Given the description of an element on the screen output the (x, y) to click on. 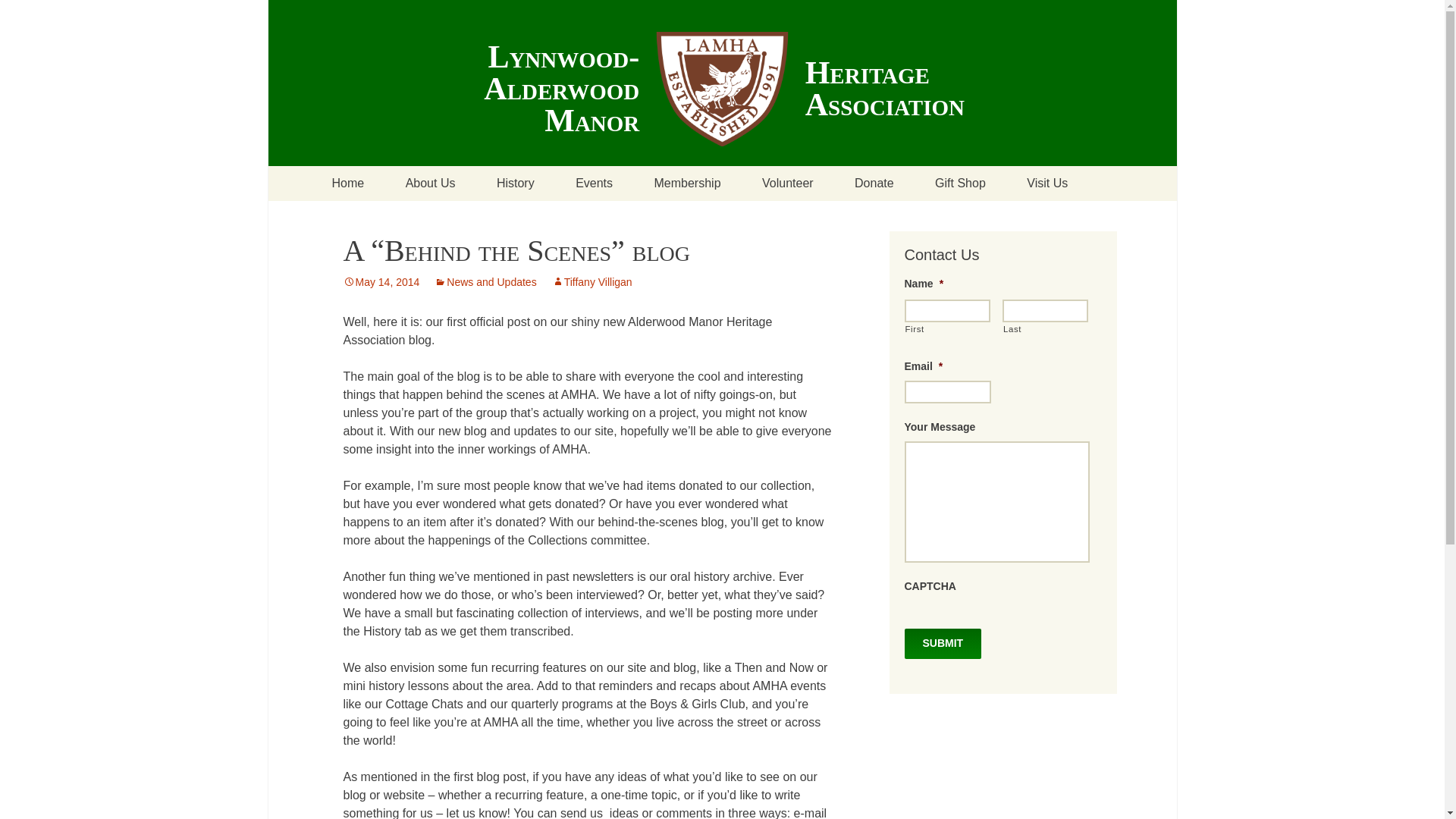
May 14, 2014 (380, 282)
Submit (942, 643)
Volunteer (787, 183)
Home (347, 183)
Search (18, 15)
Submit (942, 643)
